Given the description of an element on the screen output the (x, y) to click on. 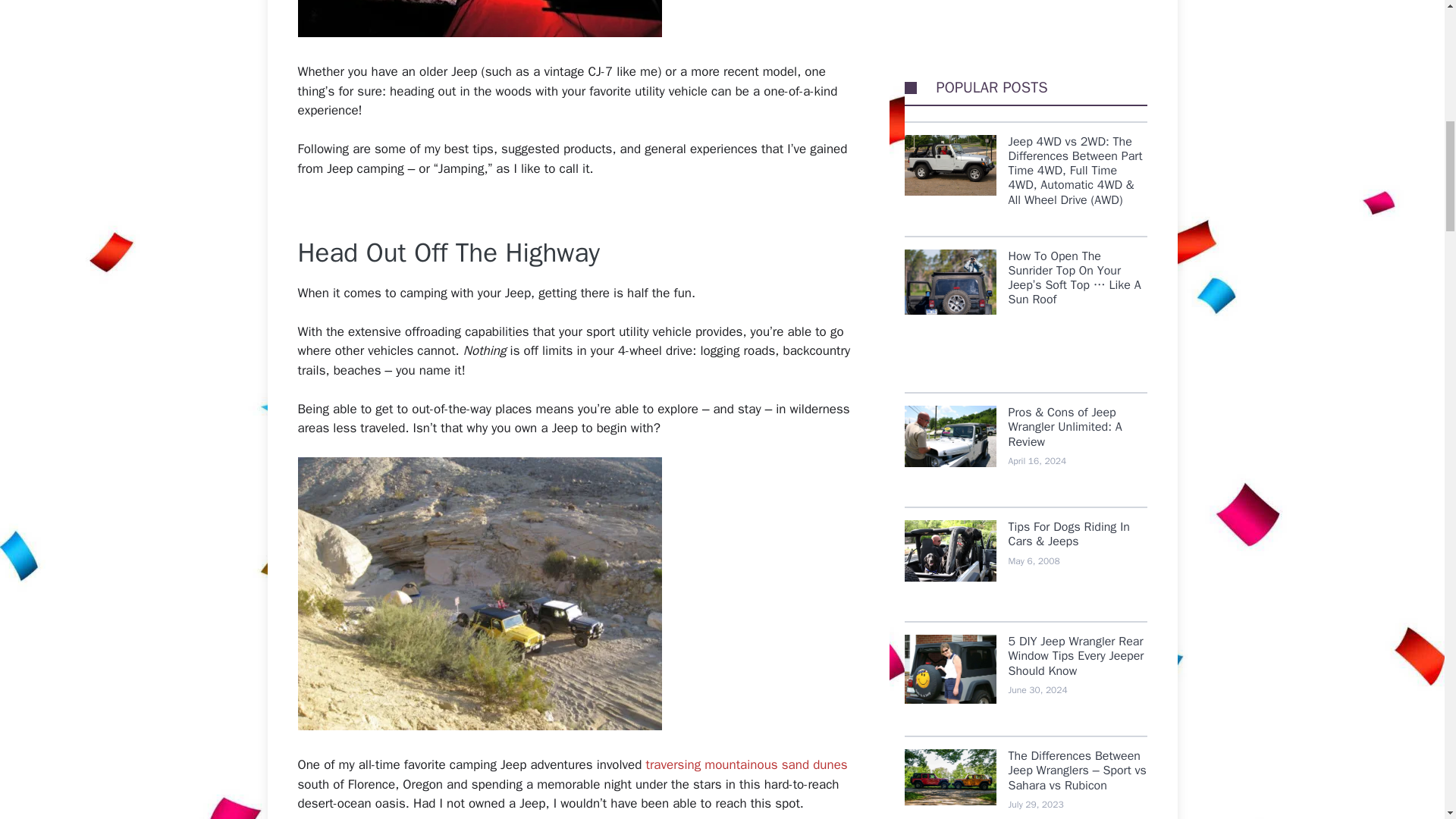
Scroll back to top (1406, 720)
Offroad camping Jeep tips. photo by GSEC on Flickr (479, 593)
traversing mountainous sand dunes (746, 764)
